Given the description of an element on the screen output the (x, y) to click on. 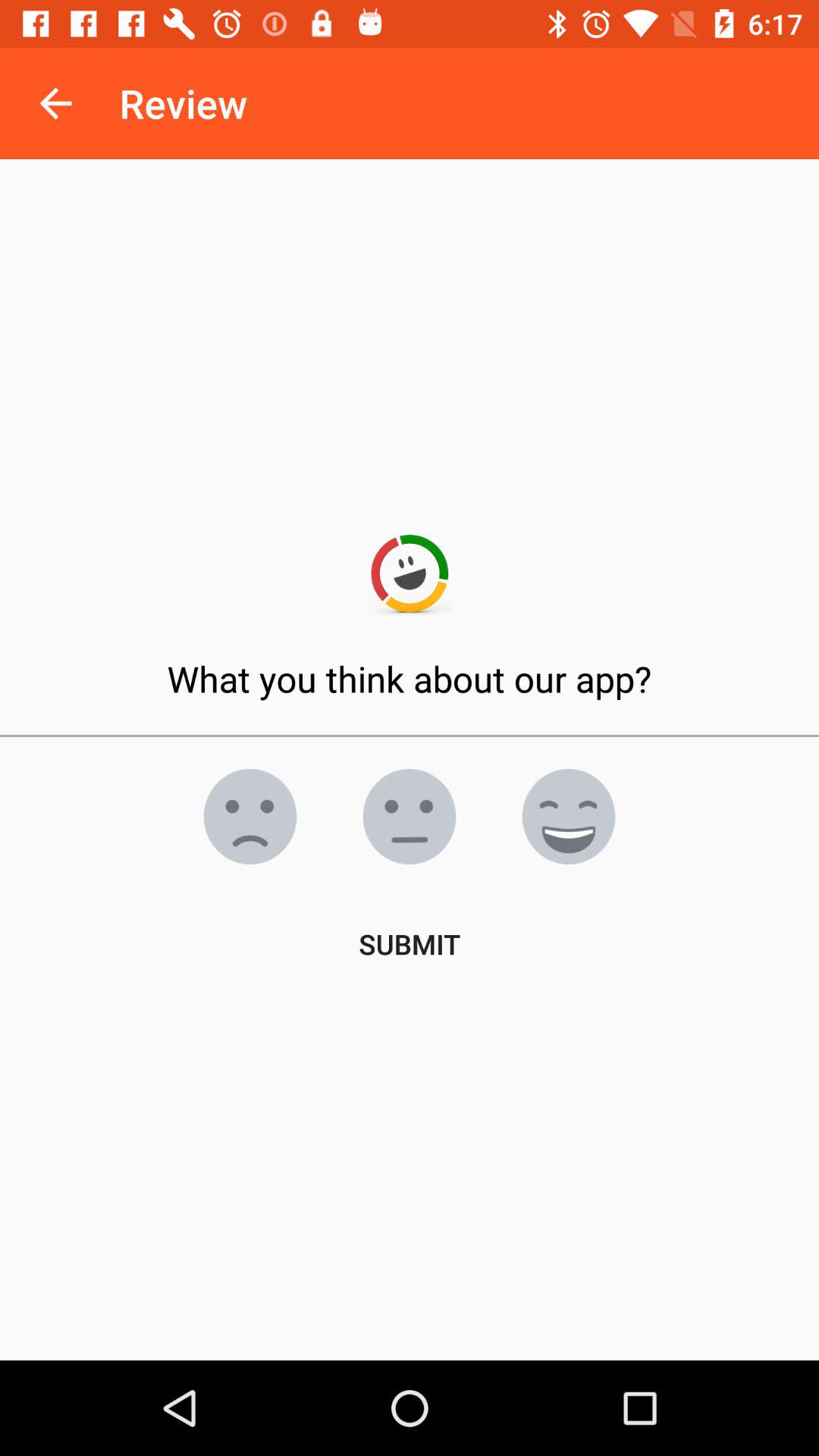
neutral emoji (409, 816)
